Given the description of an element on the screen output the (x, y) to click on. 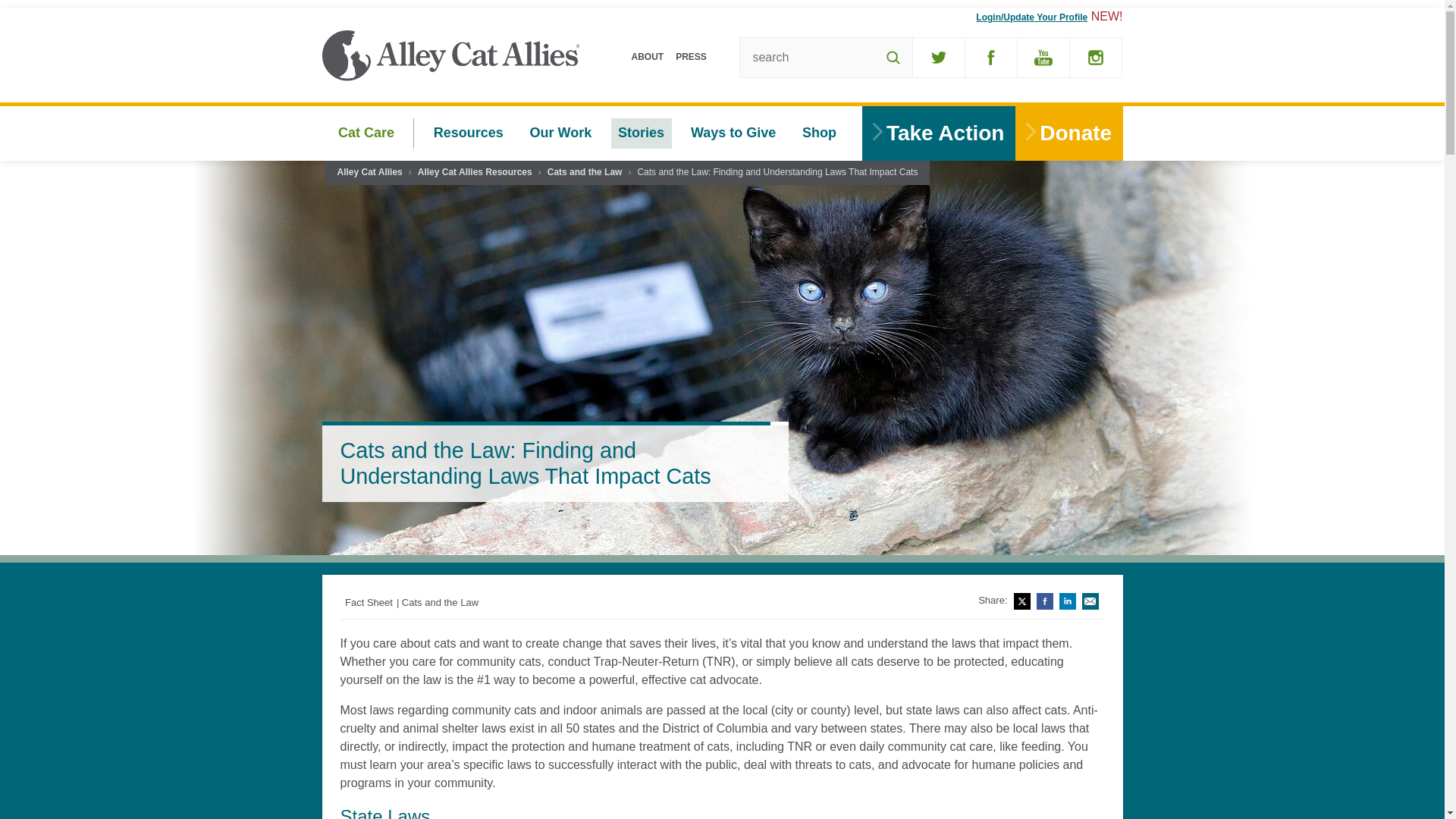
YouTube (1042, 56)
Resources (468, 132)
Cat Care (365, 132)
Go to the Cats and the Law Resource Category archives. (585, 173)
Facebook (990, 56)
Shop (819, 132)
Go to Alley Cat Allies. (368, 173)
Search (893, 56)
Twitter (937, 56)
ABOUT (646, 56)
Our Work (560, 132)
Search (893, 56)
Instagram (1095, 56)
PRESS (691, 56)
Go to Alley Cat Allies Resources. (474, 173)
